Given the description of an element on the screen output the (x, y) to click on. 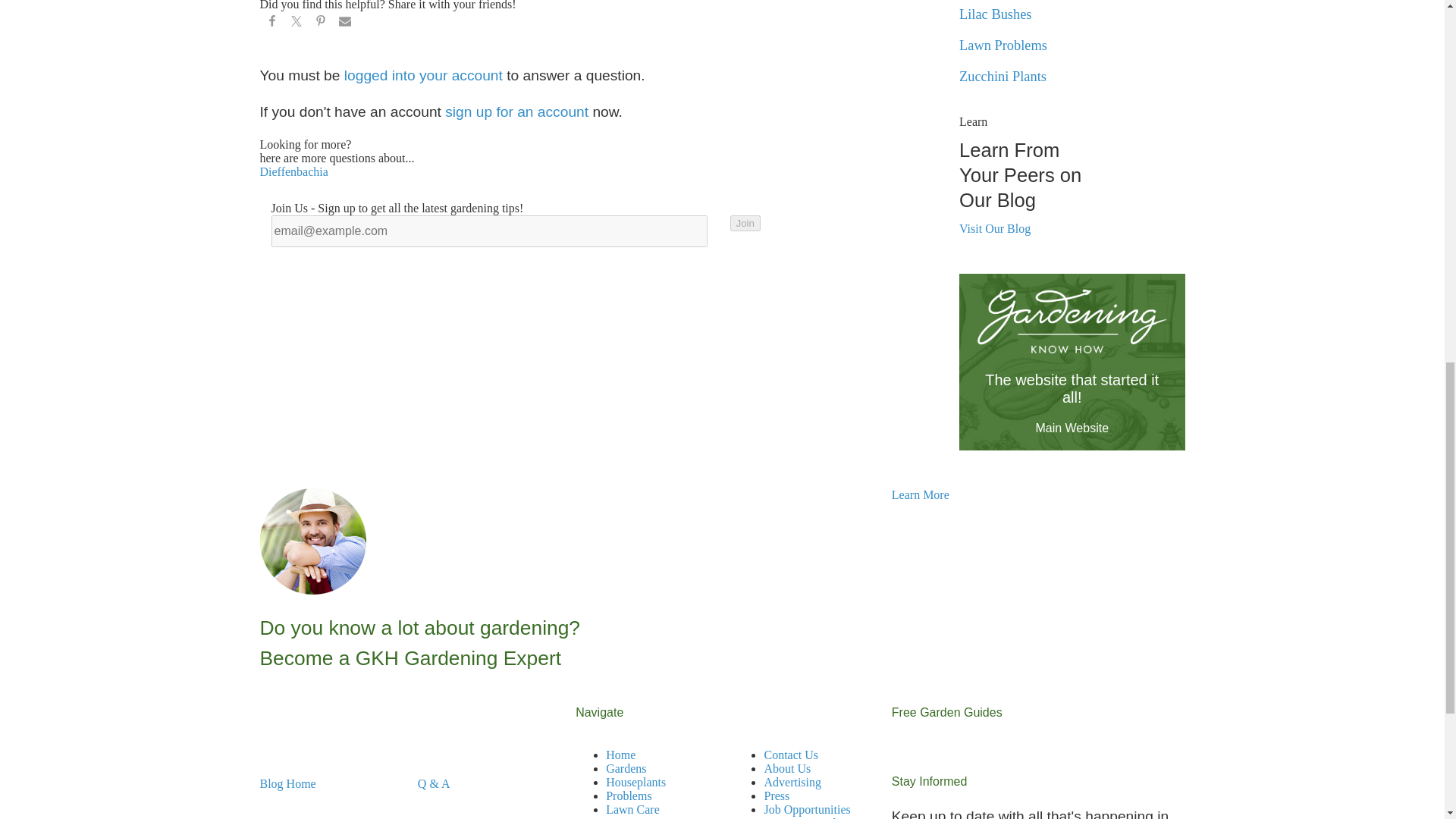
logged into your account (422, 75)
Dieffenbachia (293, 171)
sign up for an account (516, 111)
Share on Pinterest (319, 23)
Share via Email (343, 23)
Join (744, 222)
Share on Twitter (295, 23)
Share on Facebook (271, 23)
